Given the description of an element on the screen output the (x, y) to click on. 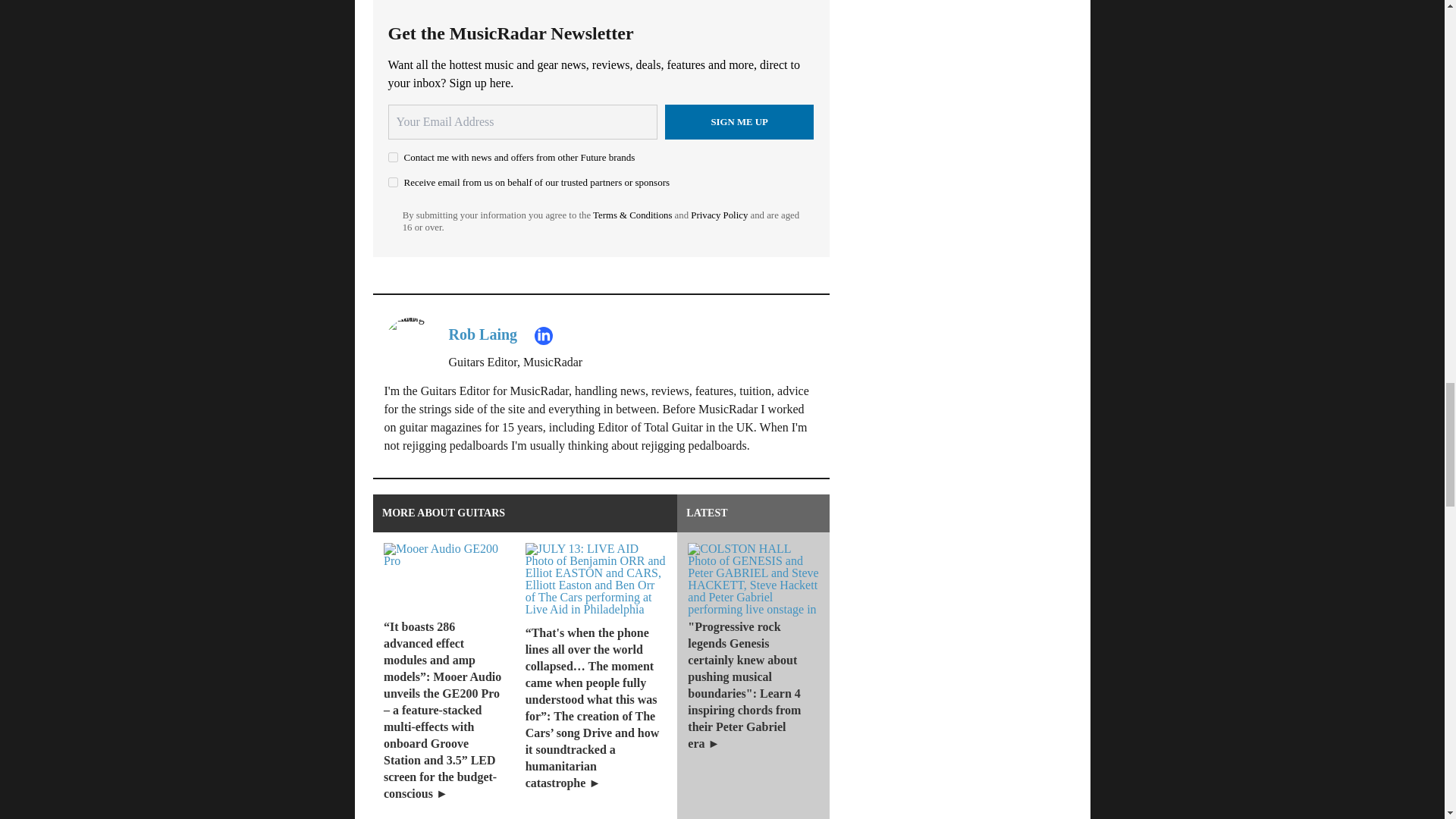
Sign me up (739, 121)
on (392, 157)
on (392, 182)
